Given the description of an element on the screen output the (x, y) to click on. 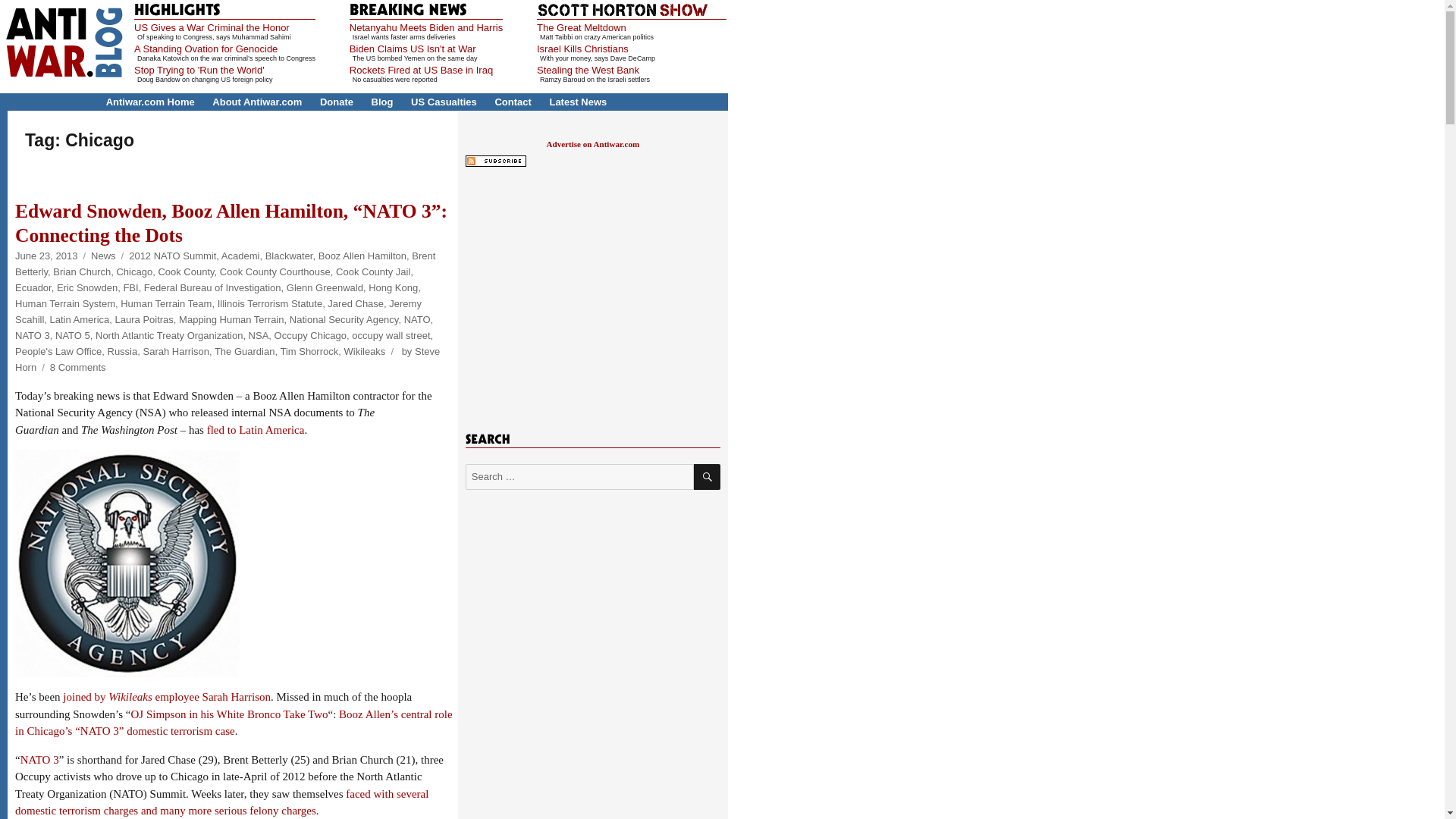
2012 NATO Summit (172, 255)
The Great Meltdown (581, 27)
Netanyahu Meets Biden and Harris (425, 27)
Brent Betterly (224, 263)
Chicago (134, 271)
US Casualties (443, 101)
Ecuador (32, 287)
Federal Bureau of Investigation (212, 287)
Academi (240, 255)
Antiwar.com Home (150, 101)
Glenn Greenwald (324, 287)
June 23, 2013 (45, 255)
Latest News (577, 101)
About Antiwar.com (256, 101)
Hong Kong (392, 287)
